Given the description of an element on the screen output the (x, y) to click on. 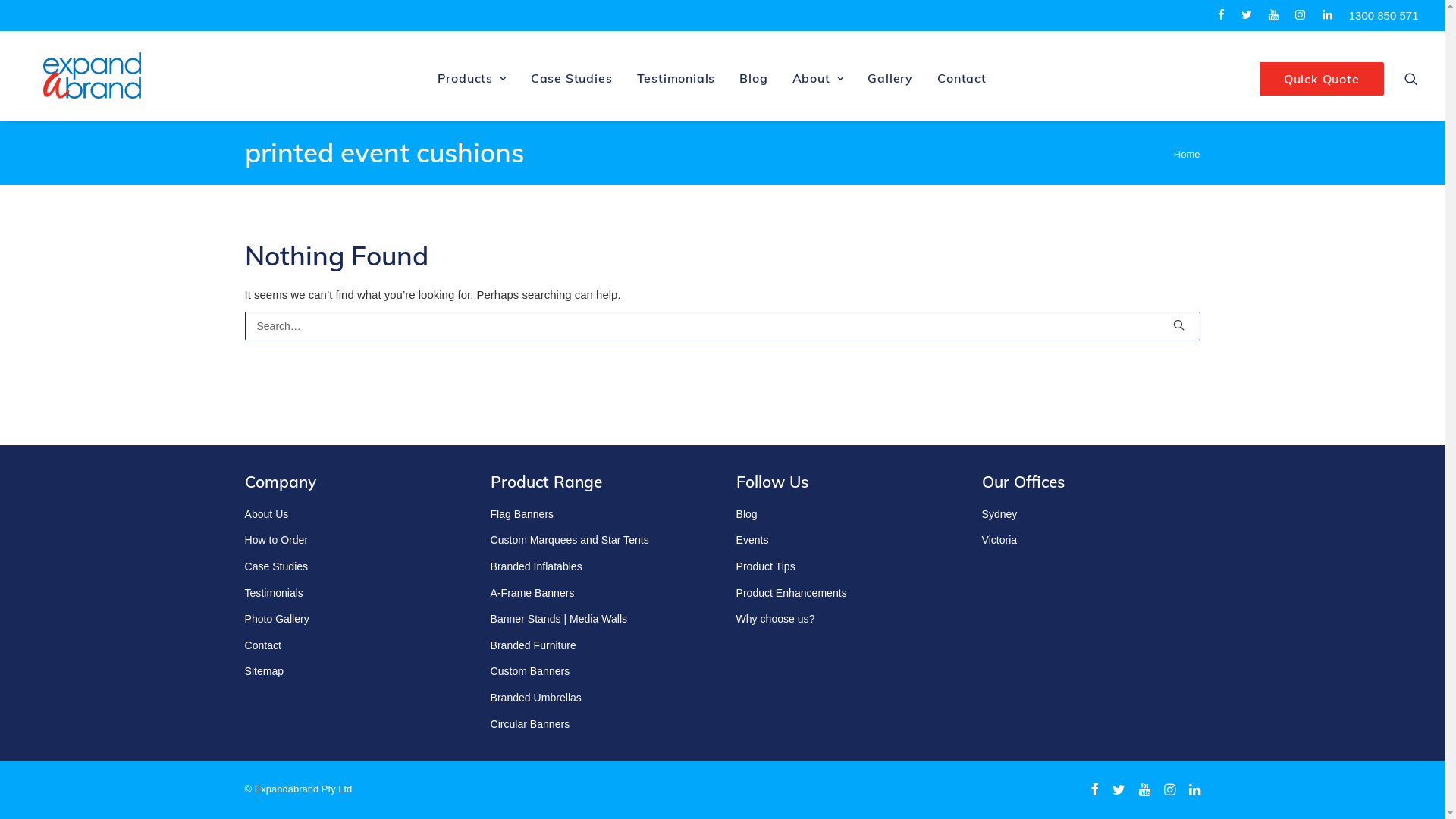
<i class="fa fa-facebook"></i> Element type: hover (1227, 15)
Testimonials Element type: text (676, 76)
Branded Inflatables Element type: text (535, 566)
Products Element type: text (471, 76)
Product Tips Element type: text (764, 566)
<i class="fa fa-linkedin"></i> Element type: hover (1334, 15)
Why choose us? Element type: text (774, 618)
Contact Element type: text (262, 645)
Sitemap Element type: text (263, 671)
Product Enhancements Element type: text (790, 592)
Branded Furniture Element type: text (532, 645)
Search for: Element type: hover (721, 325)
<i class="fa fa-youtube"></i> Element type: hover (1280, 15)
<i class="fa fa-instagram"></i> Element type: hover (1306, 15)
Victoria Element type: text (998, 539)
Branded Umbrellas Element type: text (534, 697)
Events Element type: text (751, 539)
Sydney Element type: text (998, 514)
Blog Element type: text (753, 76)
Flag Banners Element type: text (521, 514)
<i class="fa fa-twitter"></i> Element type: hover (1253, 15)
Custom Marquees and Star Tents Element type: text (568, 539)
Case Studies Element type: text (571, 76)
Home Element type: text (1186, 154)
Case Studies Element type: text (275, 566)
A-Frame Banners Element type: text (531, 592)
Contact Element type: text (961, 76)
Testimonials Element type: text (273, 592)
Photo Gallery Element type: text (276, 618)
How to Order Element type: text (275, 539)
Custom Banners Element type: text (529, 671)
Blog Element type: text (745, 514)
Quick Quote Element type: text (1321, 78)
Circular Banners Element type: text (529, 724)
Banner Stands | Media Walls Element type: text (558, 618)
Gallery Element type: text (889, 76)
About Us Element type: text (266, 514)
1300 850 571 Element type: text (1383, 15)
About Element type: text (817, 76)
